Given the description of an element on the screen output the (x, y) to click on. 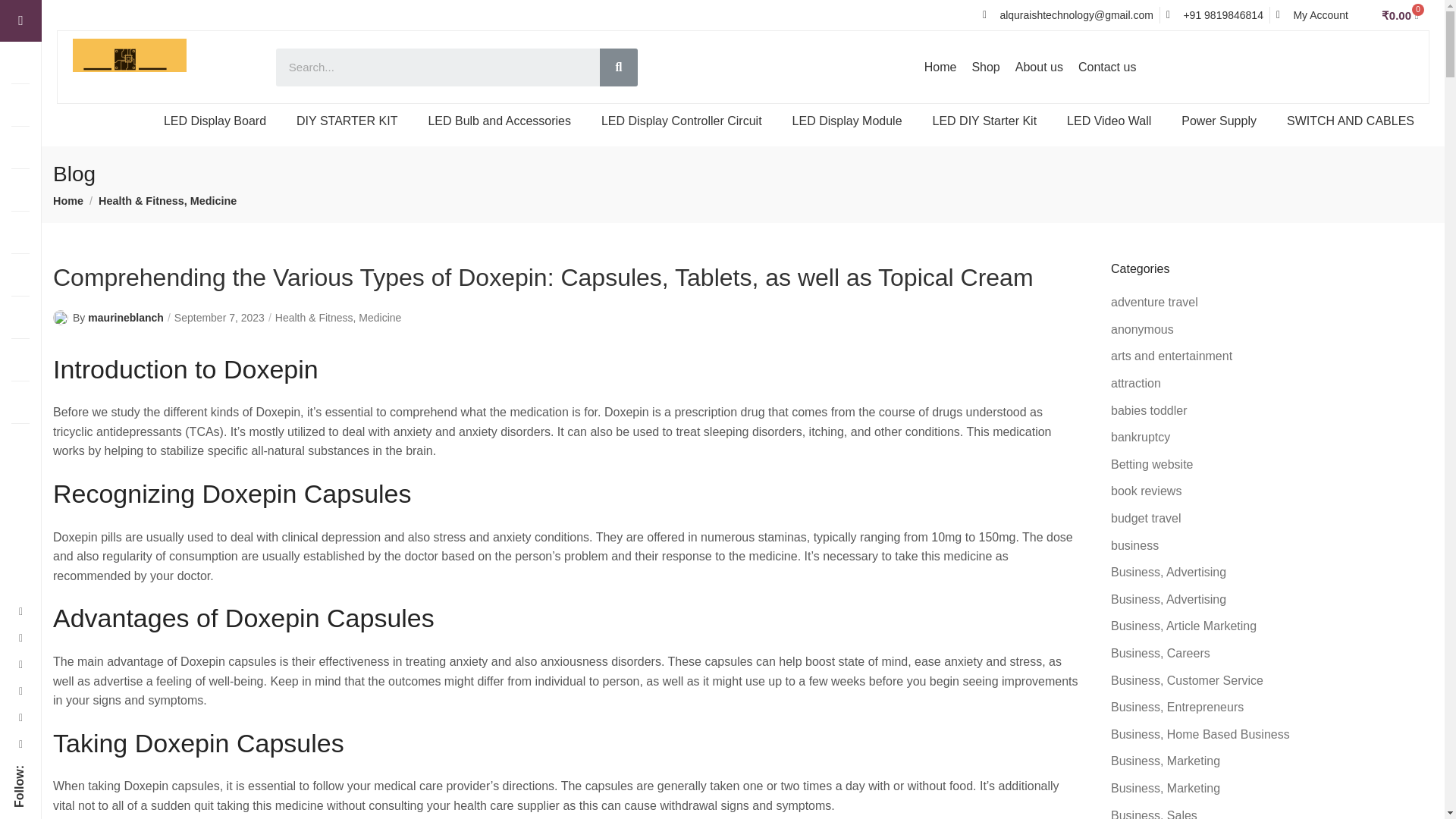
About us (1038, 67)
Search (618, 67)
LED Video Wall (1108, 121)
Shop (985, 67)
LED DIY Starter Kit (984, 121)
LED Display Controller Circuit (681, 121)
Contact us (1106, 67)
My Account (1312, 14)
Power Supply (1218, 121)
LED Display Board (214, 121)
